Given the description of an element on the screen output the (x, y) to click on. 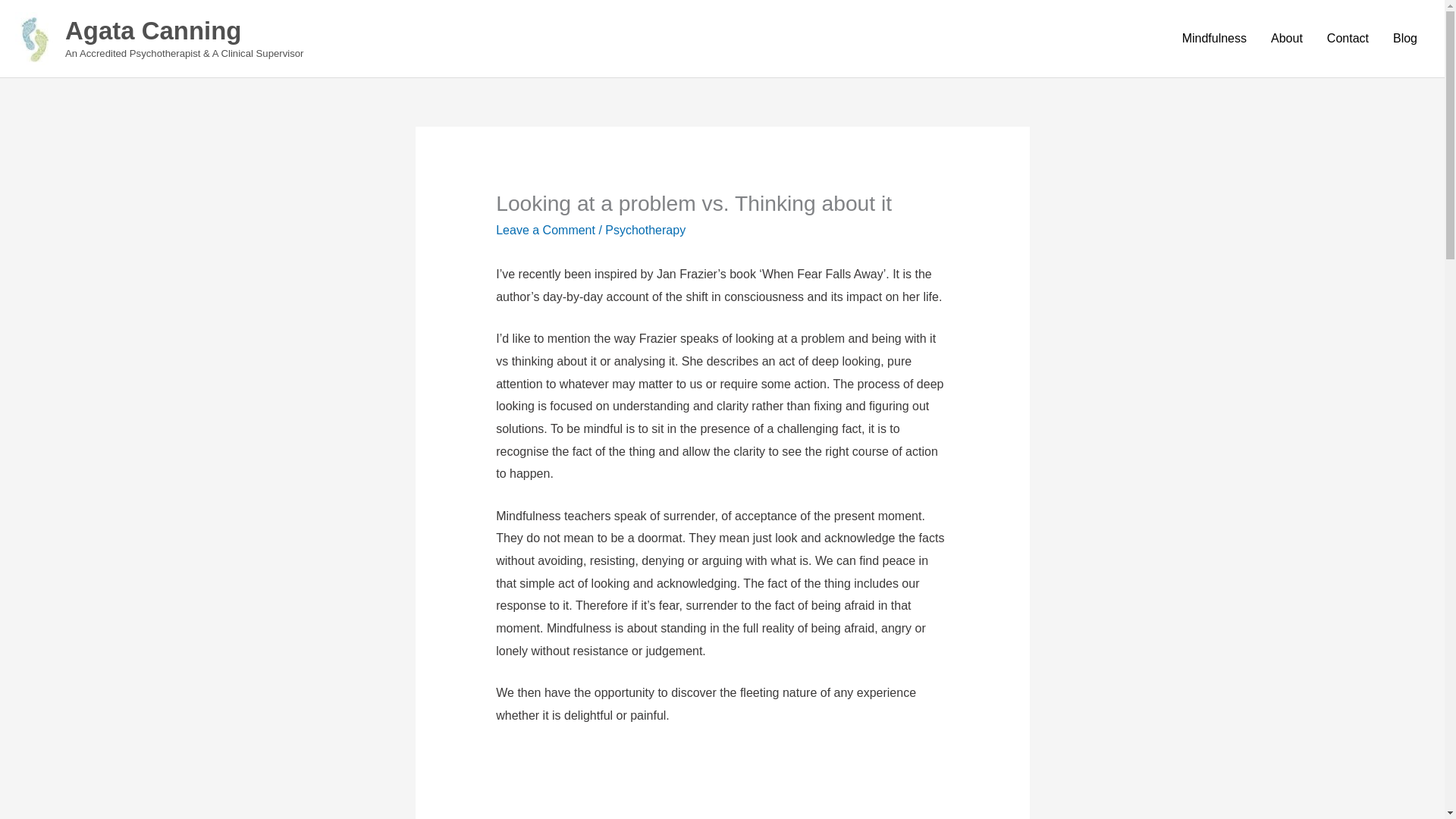
Mindfulness (1214, 38)
Contact (1347, 38)
Psychotherapy (645, 229)
About (1286, 38)
Leave a Comment (545, 229)
Blog (1404, 38)
Agata Canning (153, 30)
